Given the description of an element on the screen output the (x, y) to click on. 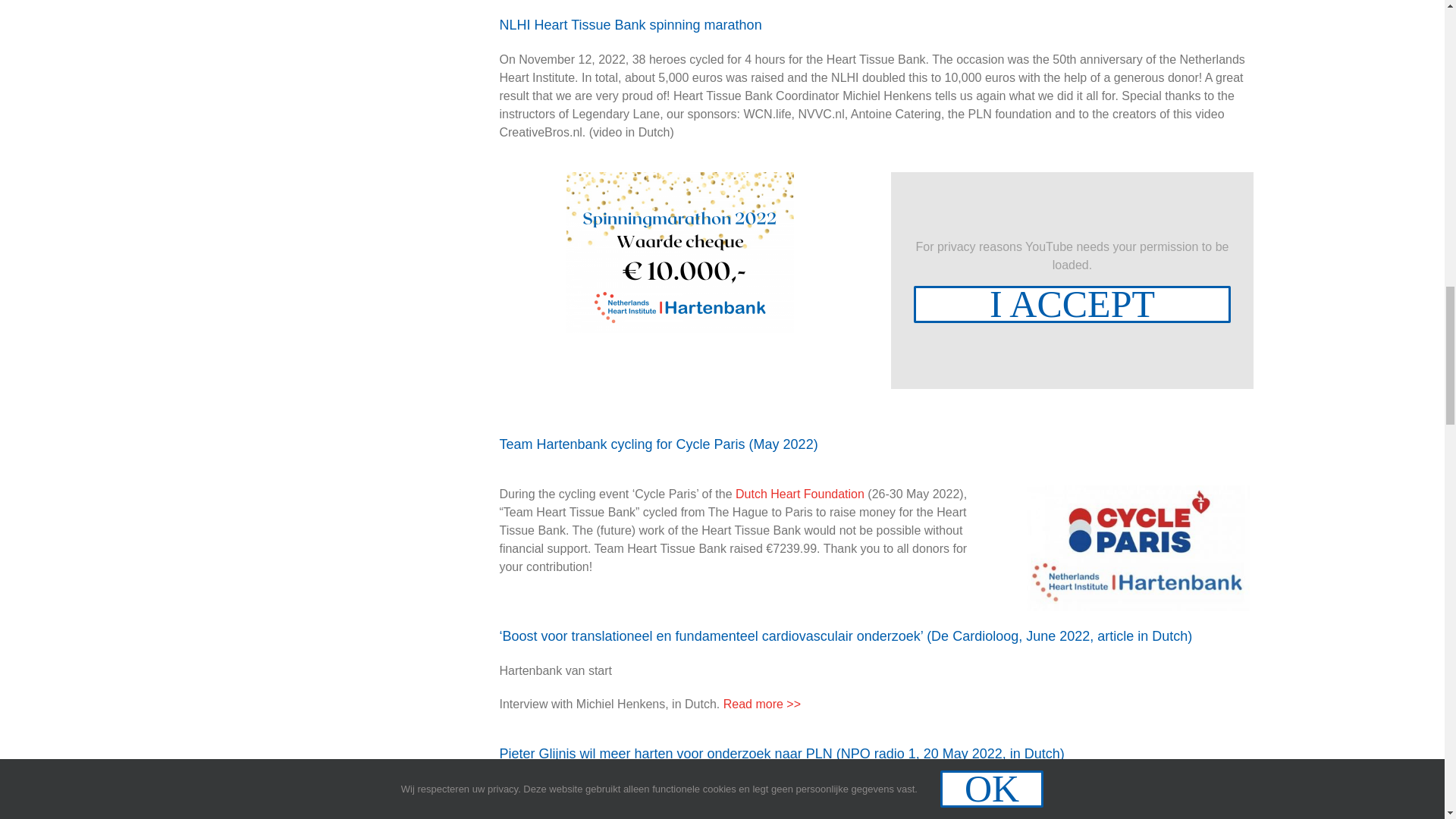
cycle paris (1135, 547)
